Given the description of an element on the screen output the (x, y) to click on. 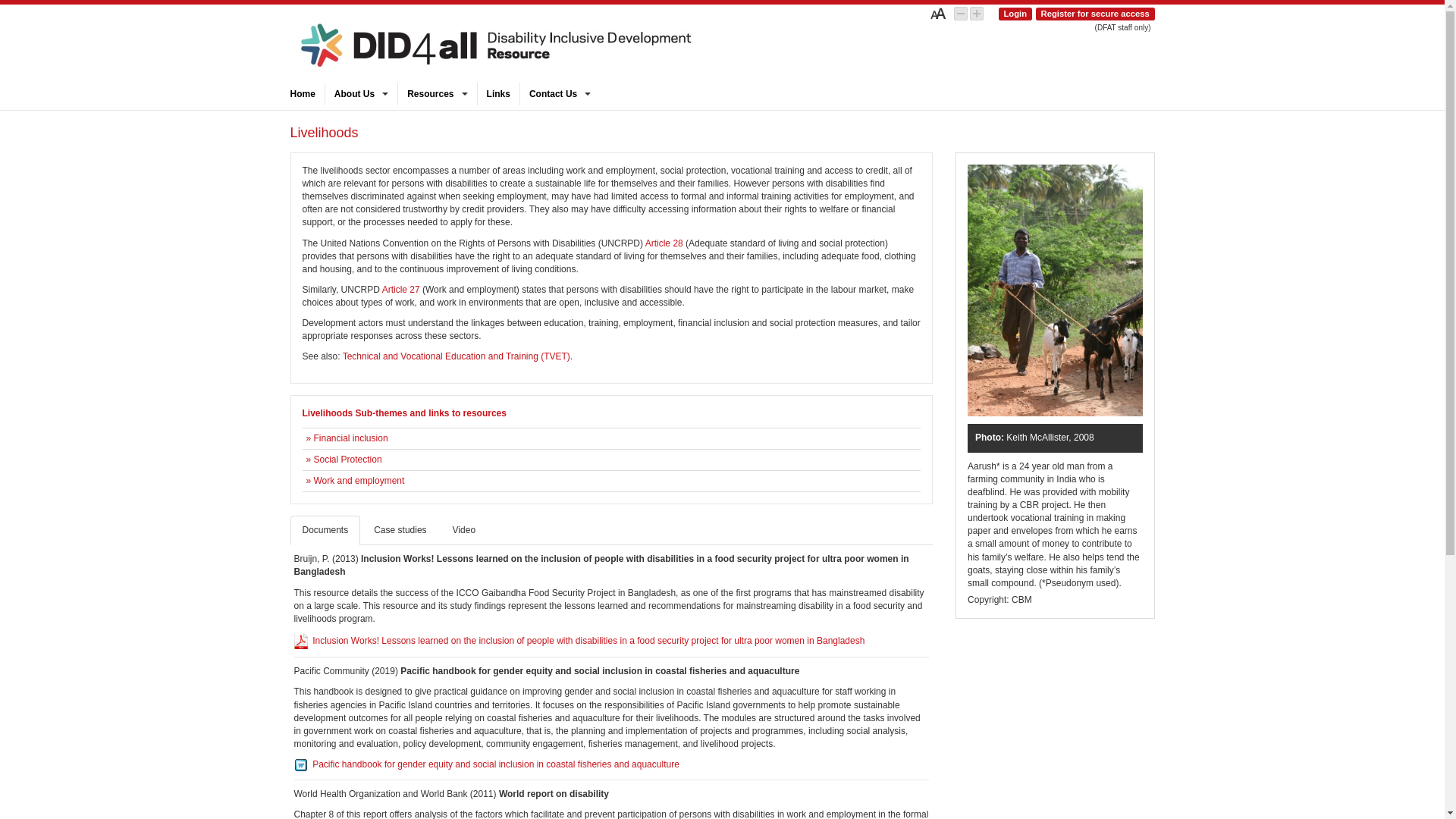
Decrease text size Element type: text (960, 13)
Technical and Vocational Education and Training (TVET) Element type: text (456, 356)
Home Element type: text (306, 93)
Documents Element type: text (324, 530)
Article 27 Element type: text (401, 289)
Register for secure access Element type: text (1095, 13)
Links Element type: text (498, 93)
Resources Element type: text (437, 93)
Video Element type: text (463, 530)
Case studies Element type: text (399, 530)
Increase text size Element type: text (976, 13)
Contact Us Element type: text (559, 93)
Login Element type: text (1014, 13)
Article 28 Element type: text (664, 243)
About Us Element type: text (361, 93)
